Given the description of an element on the screen output the (x, y) to click on. 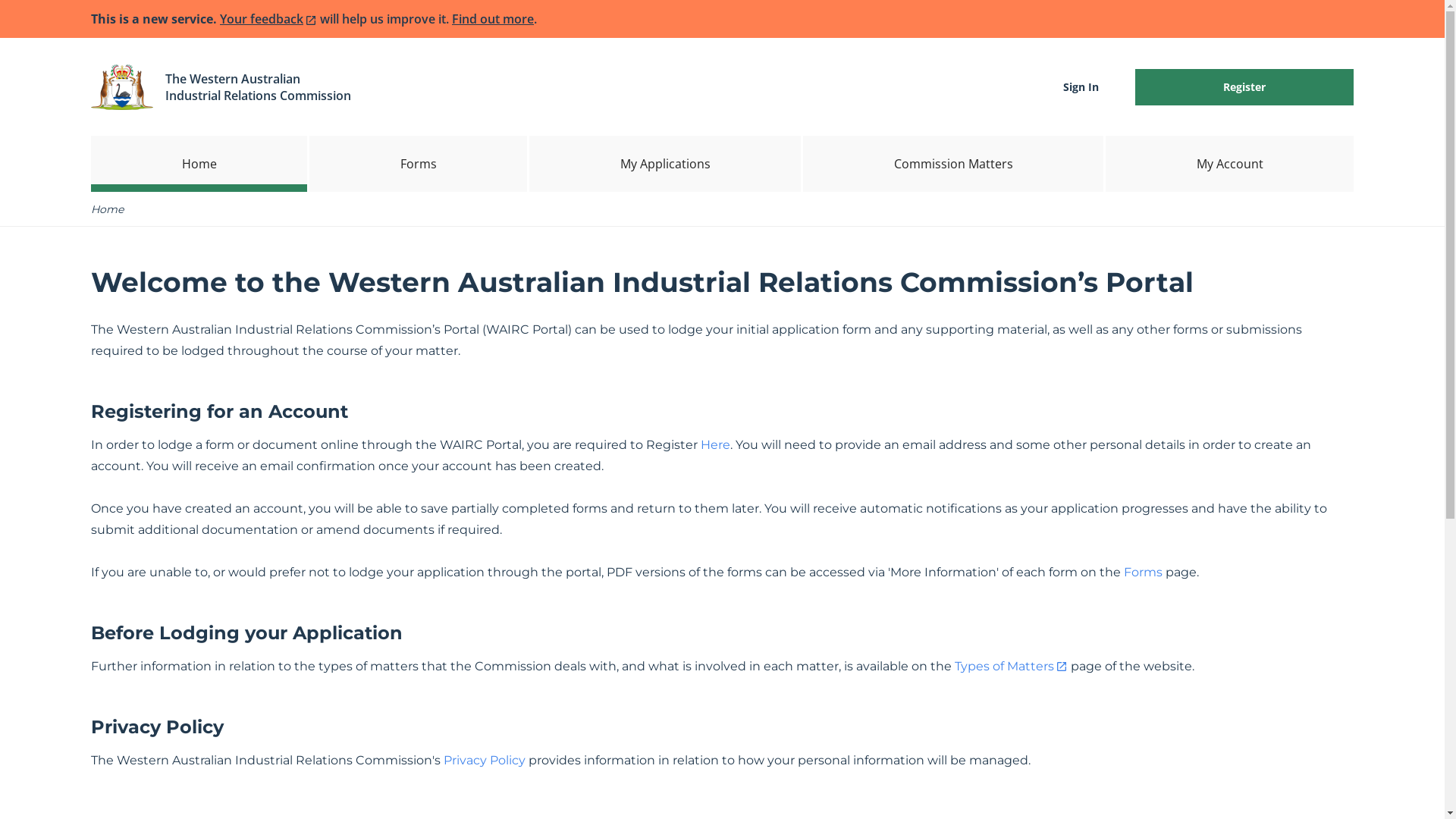
The Western Australian
Industrial Relations Commission Element type: text (258, 86)
Privacy Policy Element type: text (484, 760)
Find out more Element type: text (492, 18)
My Applications Element type: text (664, 163)
Here Element type: text (715, 444)
Forms Element type: text (418, 163)
Forms Element type: text (1142, 571)
Sign In Element type: text (1080, 87)
Your feedbackopen_in_new Element type: text (267, 18)
Types of Matters Element type: text (1010, 665)
Home Element type: text (199, 163)
My Account Element type: text (1229, 163)
Commission Matters Element type: text (953, 163)
Register Element type: text (1244, 87)
